Given the description of an element on the screen output the (x, y) to click on. 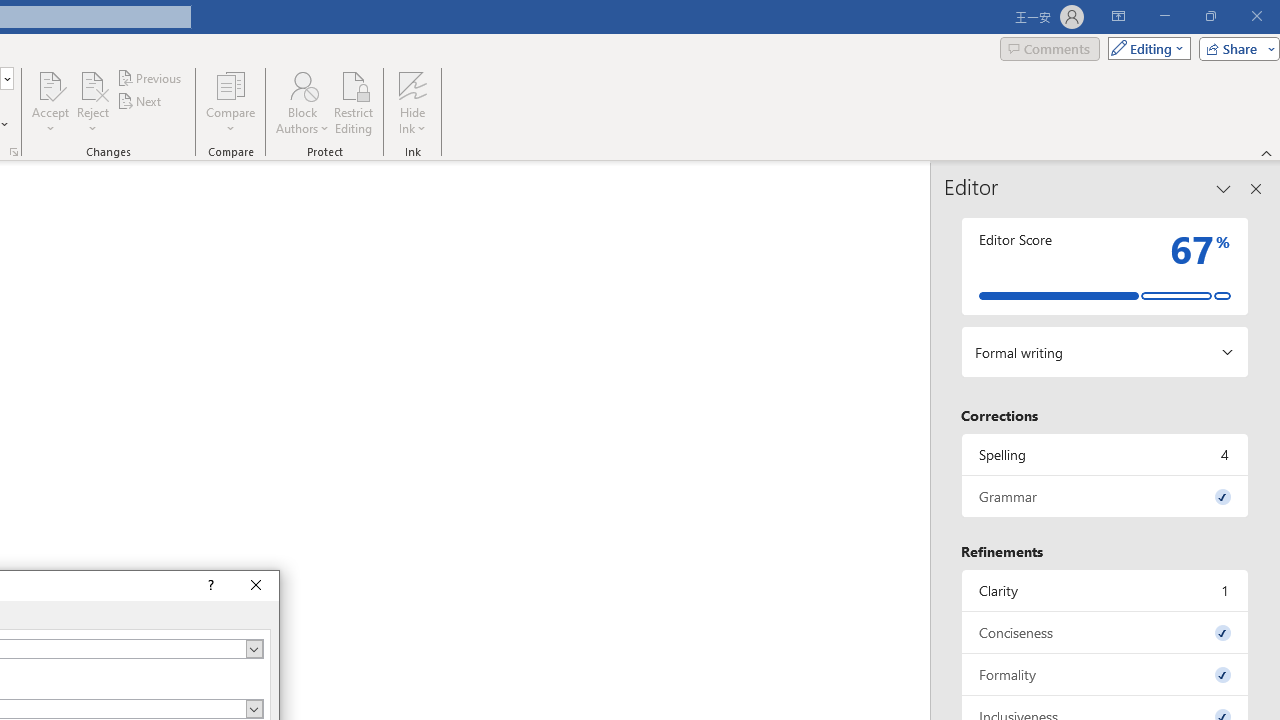
Previous (150, 78)
Accept (50, 102)
